Given the description of an element on the screen output the (x, y) to click on. 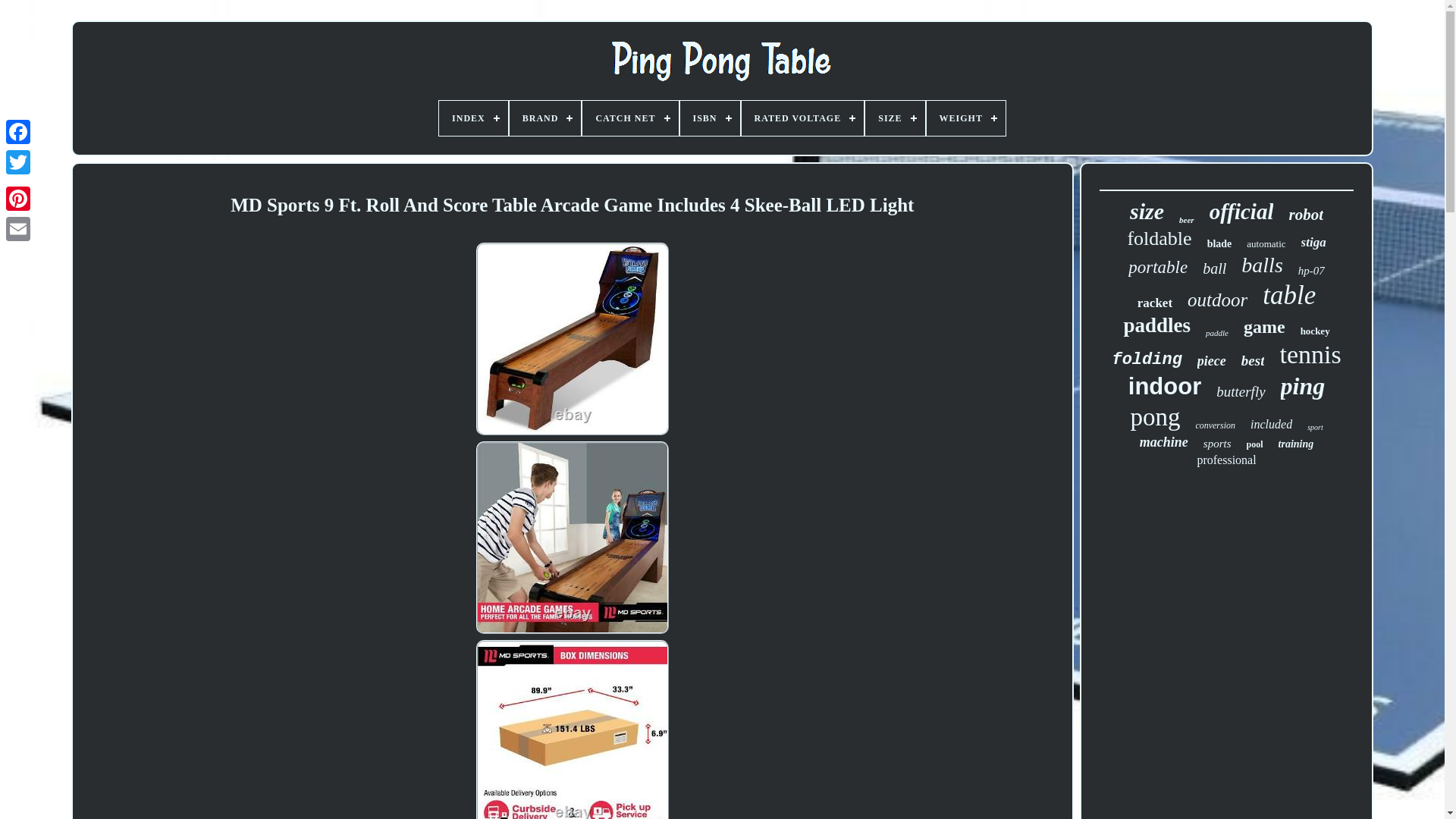
BRAND (544, 117)
ISBN (709, 117)
CATCH NET (630, 117)
INDEX (473, 117)
